Given the description of an element on the screen output the (x, y) to click on. 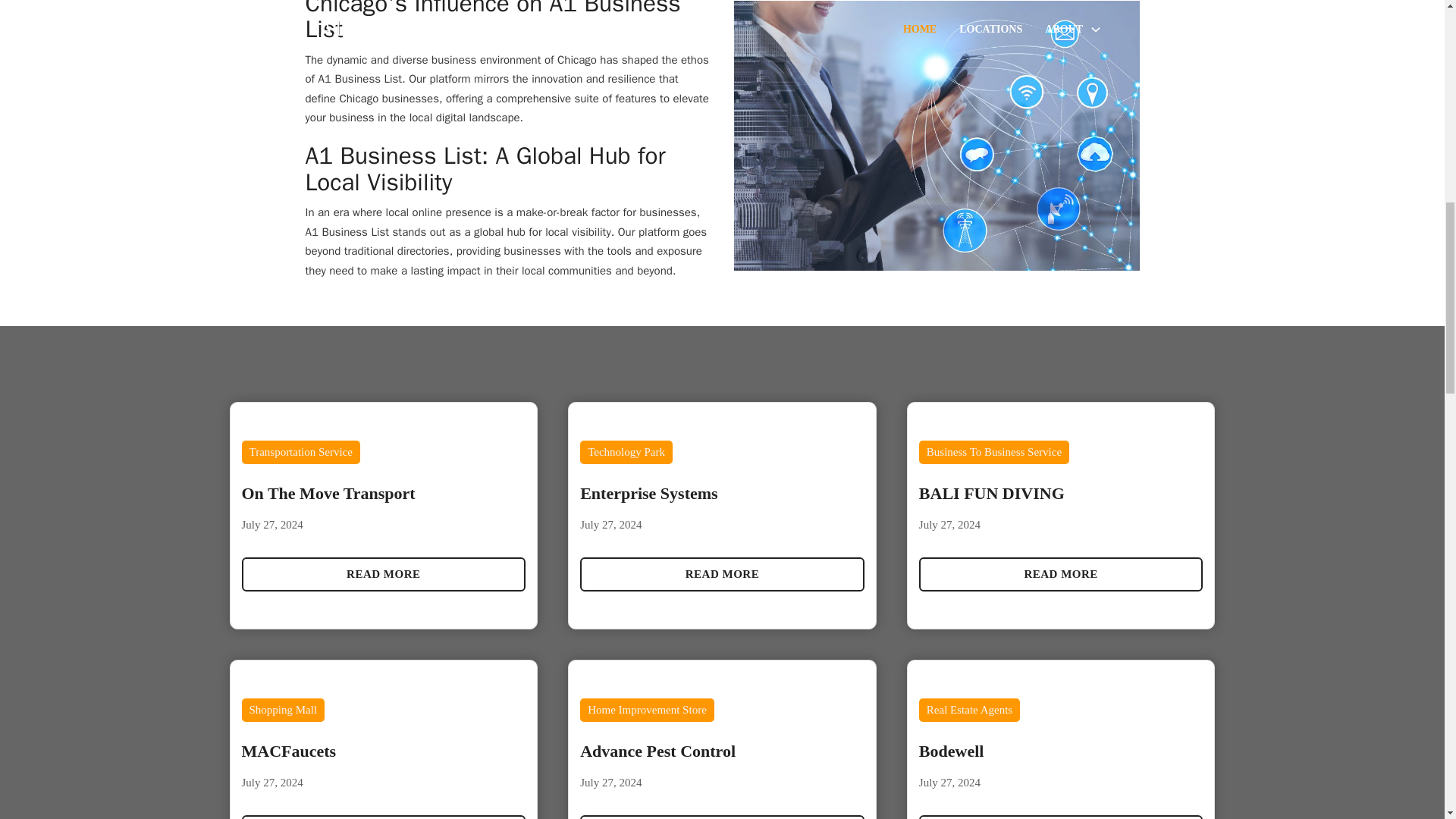
Bodewell (951, 751)
Transportation Service (300, 451)
BALI FUN DIVING (991, 493)
READ MORE (721, 816)
MACFaucets (288, 751)
On The Move Transport (327, 493)
READ MORE (1061, 816)
Home Improvement Store (647, 709)
READ MORE (383, 816)
Technology Park (626, 451)
Shopping Mall (282, 709)
READ MORE (383, 574)
Real Estate Agents (968, 709)
Enterprise Systems (648, 493)
Business To Business Service (993, 451)
